Given the description of an element on the screen output the (x, y) to click on. 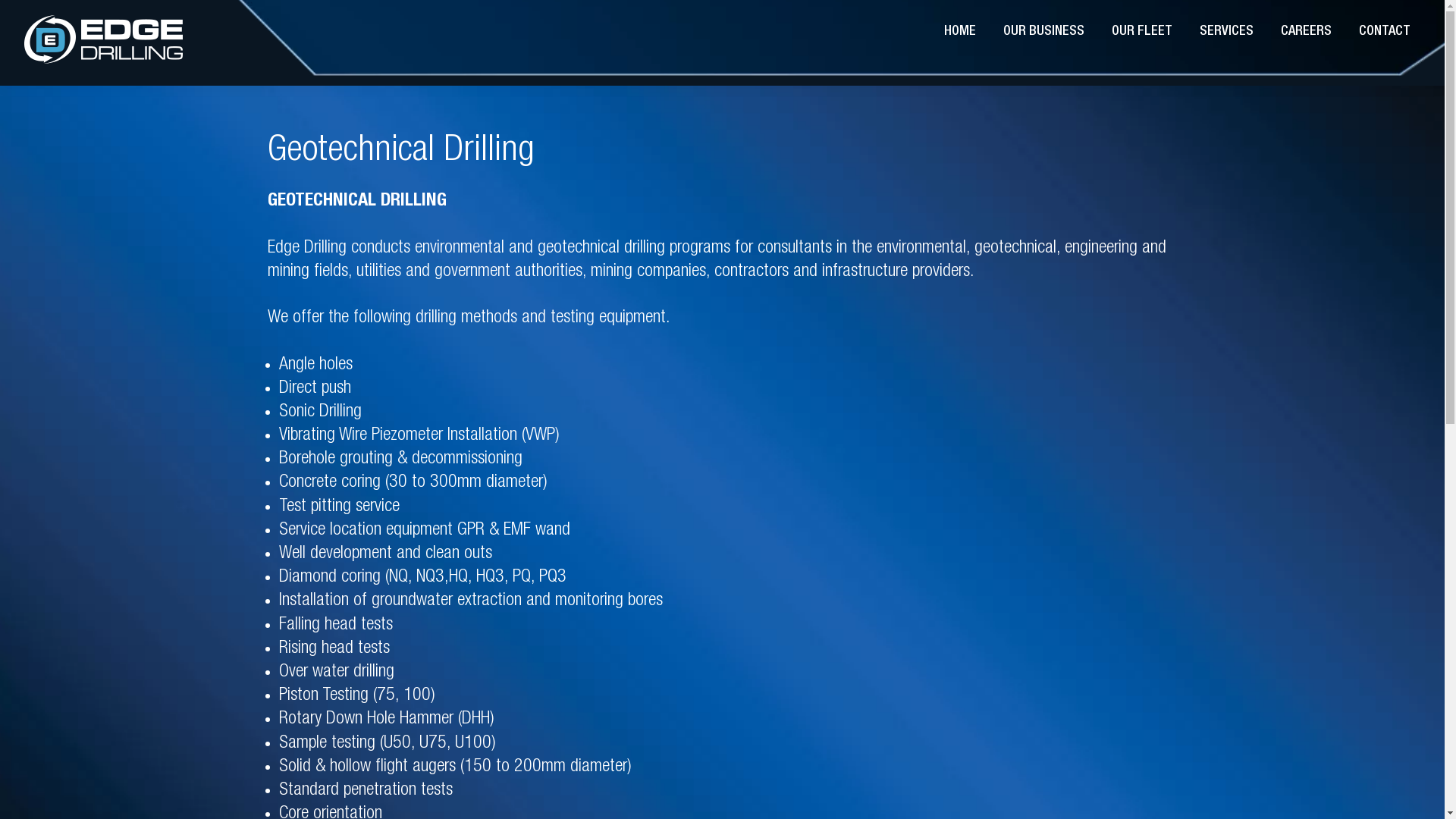
CAREERS Element type: text (1306, 31)
CONTACT Element type: text (1384, 31)
SERVICES Element type: text (1226, 31)
HOME Element type: text (959, 31)
OUR FLEET Element type: text (1141, 31)
OUR BUSINESS Element type: text (1043, 31)
Skip to main content Element type: text (0, 0)
